Given the description of an element on the screen output the (x, y) to click on. 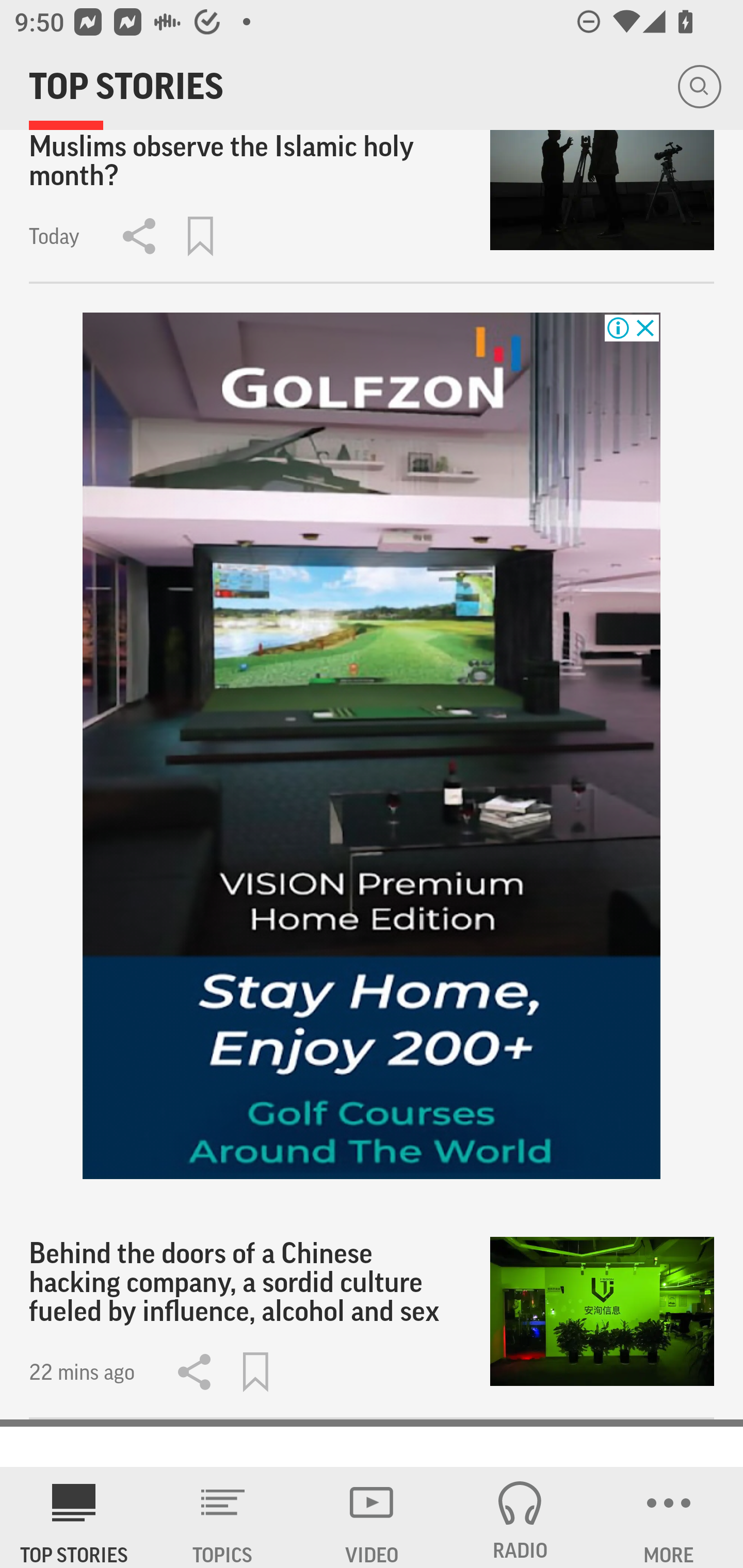
golfzonhk (371, 745)
AP News TOP STORIES (74, 1517)
TOPICS (222, 1517)
VIDEO (371, 1517)
RADIO (519, 1517)
MORE (668, 1517)
